Given the description of an element on the screen output the (x, y) to click on. 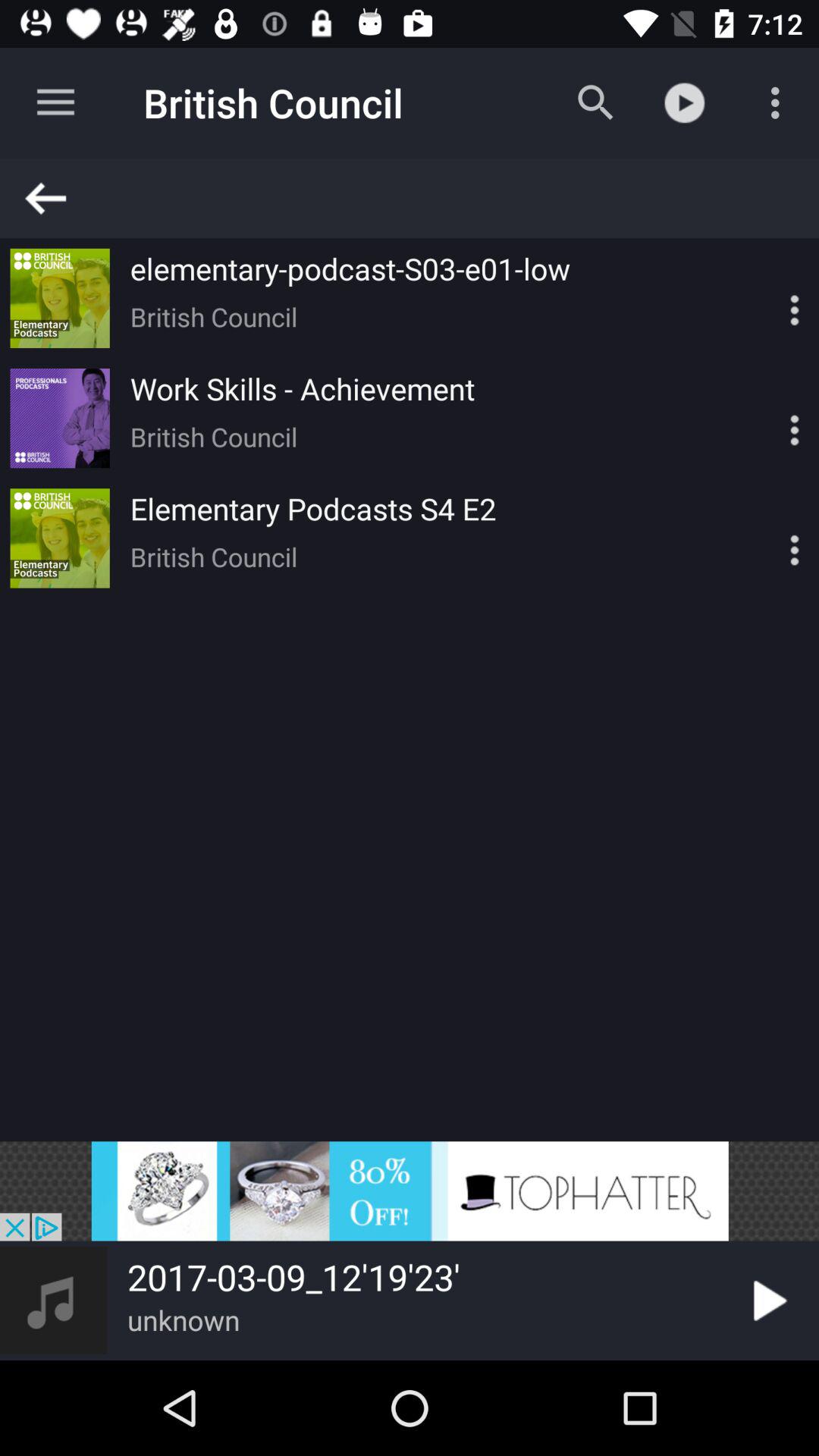
advertising (409, 1191)
